Given the description of an element on the screen output the (x, y) to click on. 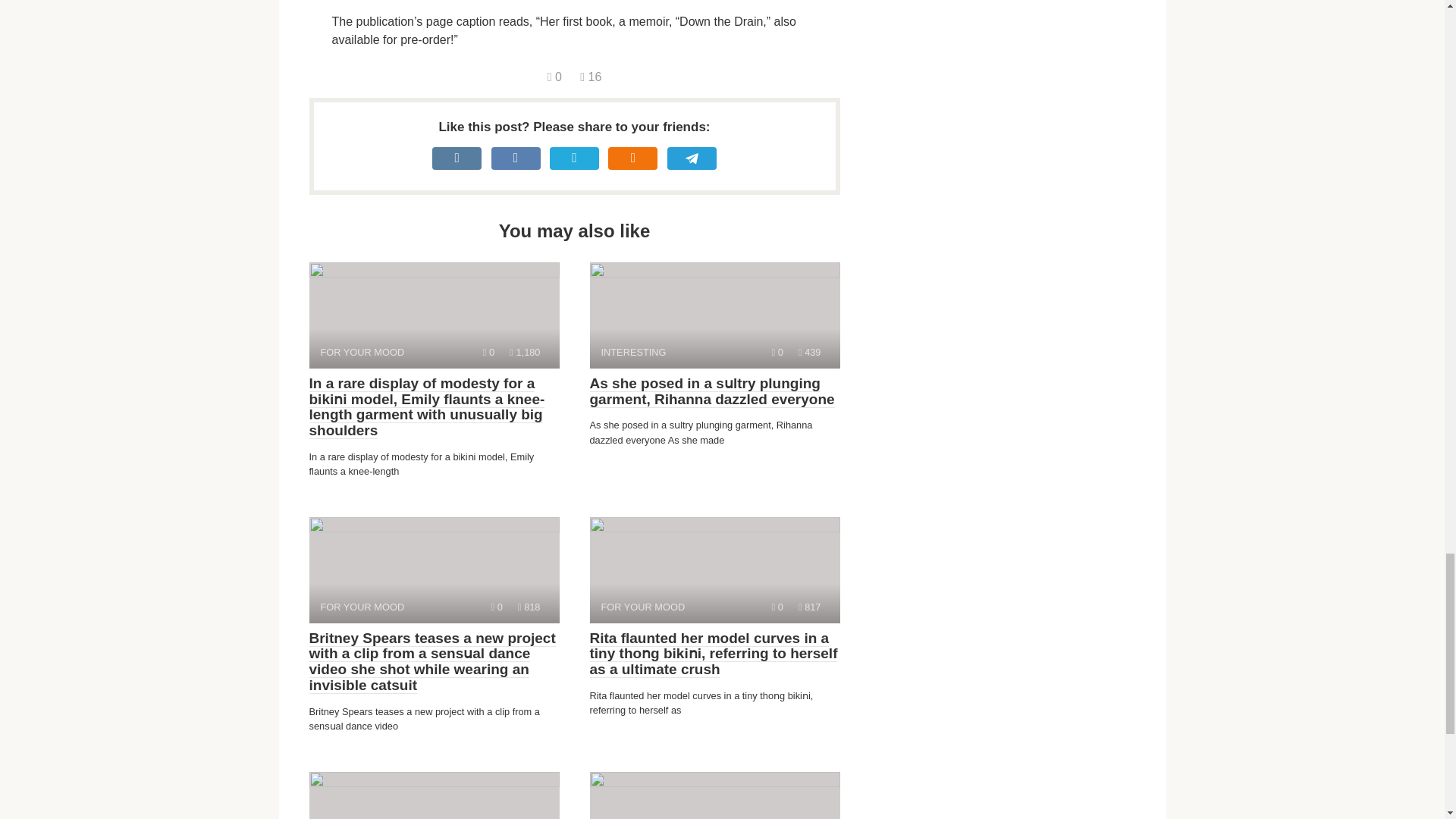
Views (433, 795)
Views (809, 606)
Views (524, 351)
Views (433, 569)
Views (529, 606)
Comments (809, 351)
Comments (590, 76)
